Given the description of an element on the screen output the (x, y) to click on. 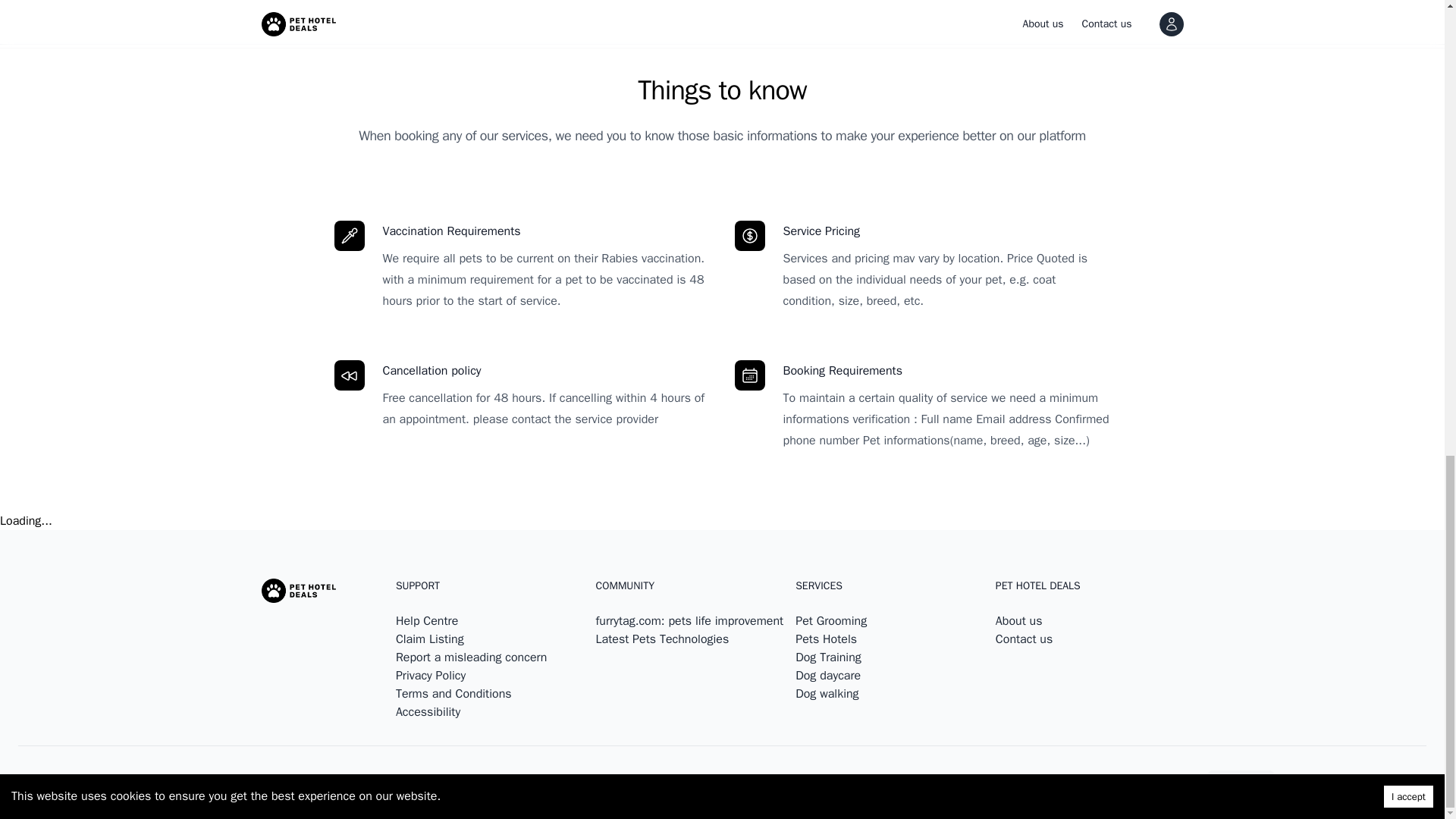
Dog walking (826, 693)
furrytag.com: pets life improvement (689, 620)
Dog Training (827, 657)
Latest Pets Technologies (662, 639)
About us (1018, 620)
Terms and Conditions (454, 693)
Contact us (1023, 639)
Report a misleading concern (471, 657)
Accessibility (428, 711)
Facebook page (1289, 785)
Pets Hotels (825, 639)
Pethoteldeals (90, 784)
Dog daycare (827, 675)
Help Centre (427, 620)
Privacy Policy (430, 675)
